Given the description of an element on the screen output the (x, y) to click on. 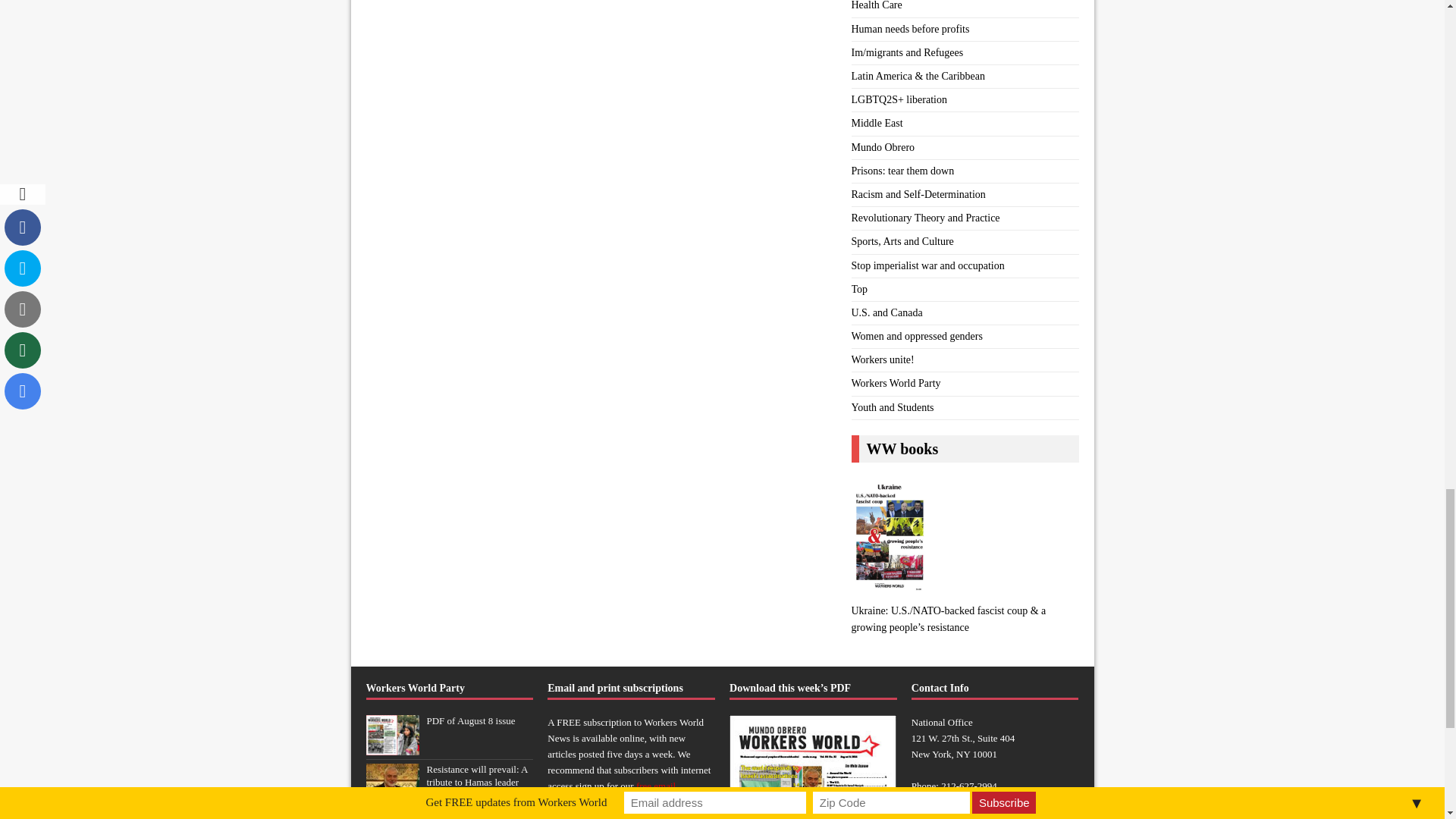
PDF of August 8 issue (392, 747)
Media lies and the prisoner exchange (462, 815)
PDF of August 8 issue (470, 720)
